Given the description of an element on the screen output the (x, y) to click on. 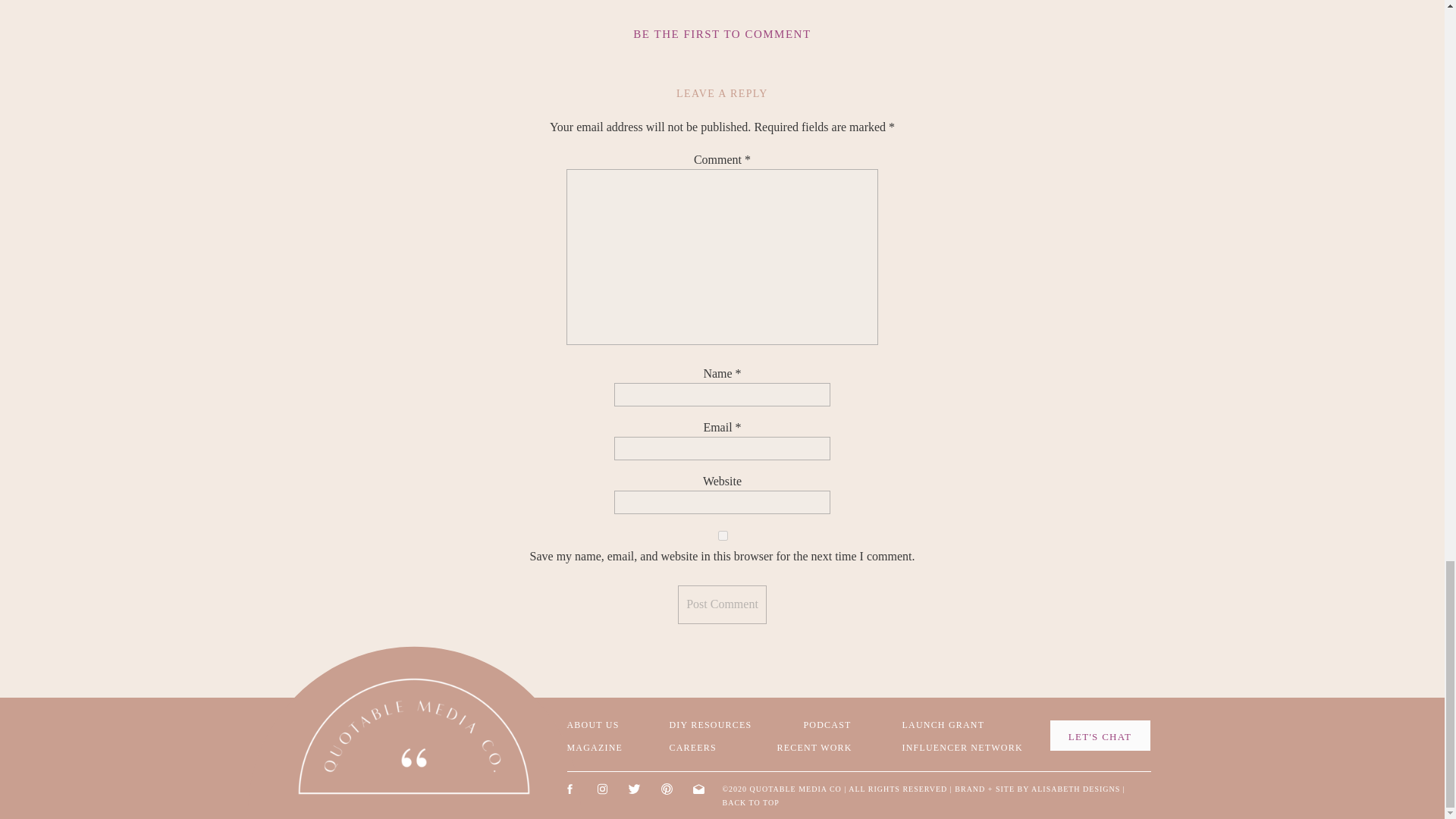
yes (721, 535)
Post Comment (722, 604)
